Given the description of an element on the screen output the (x, y) to click on. 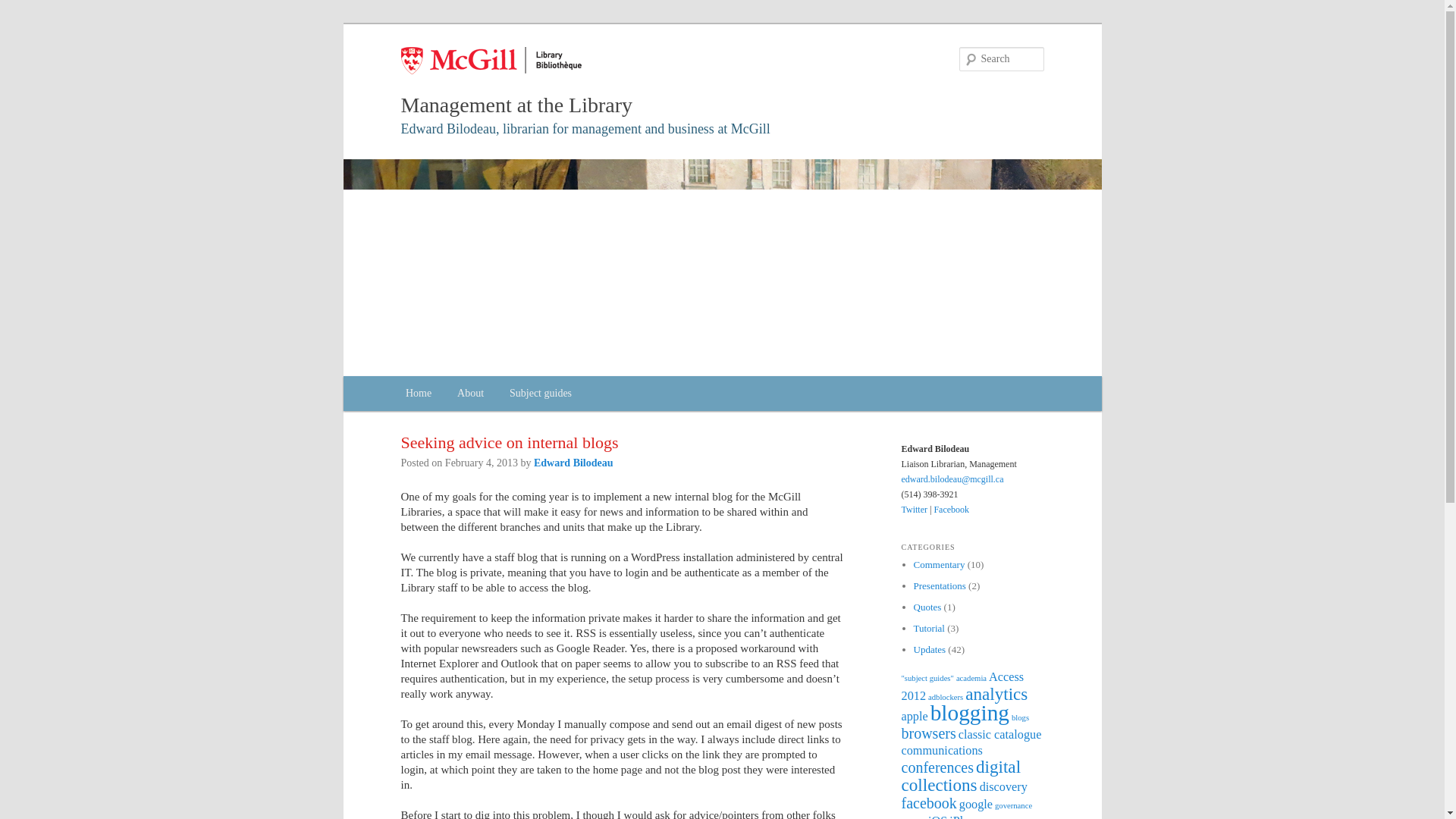
classic catalogue (1000, 735)
Email Edward Bilodeau (573, 462)
adblockers (945, 696)
conferences (937, 767)
Subject guides (540, 393)
Tutorial (927, 627)
About (470, 393)
blogging (969, 712)
"subject guides" (927, 678)
academia (971, 678)
